Given the description of an element on the screen output the (x, y) to click on. 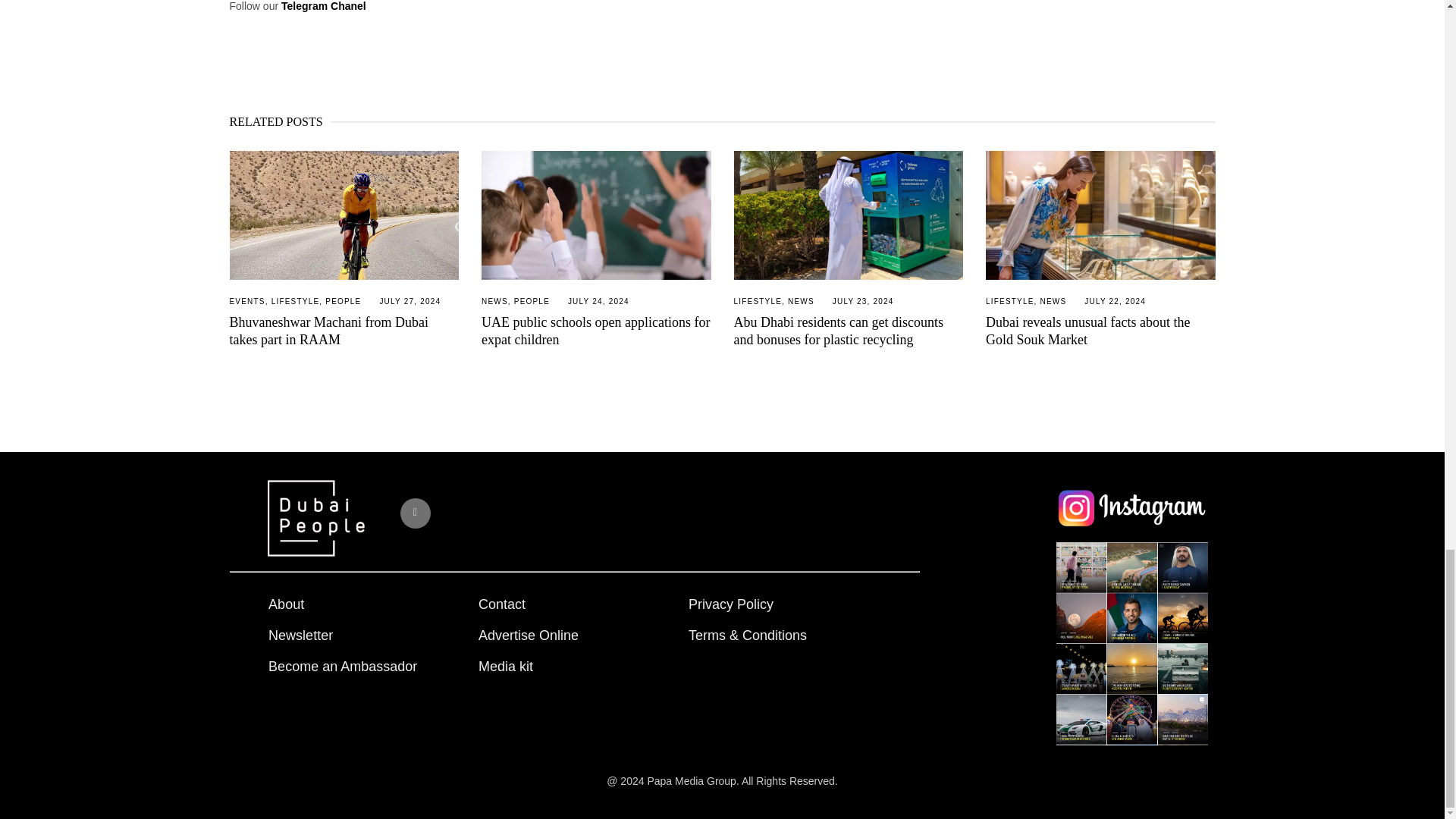
Dubai reveals unusual facts about the Gold Souk Market (1087, 330)
Bhuvaneshwar Machani from Dubai takes part in RAAM (343, 215)
UAE public schools open applications for expat children (595, 330)
Dubai reveals unusual facts about the Gold Souk Market (1100, 215)
Bhuvaneshwar Machani from Dubai takes part in RAAM (328, 330)
UAE public schools open applications for expat children (596, 215)
Instagram (415, 512)
